Given the description of an element on the screen output the (x, y) to click on. 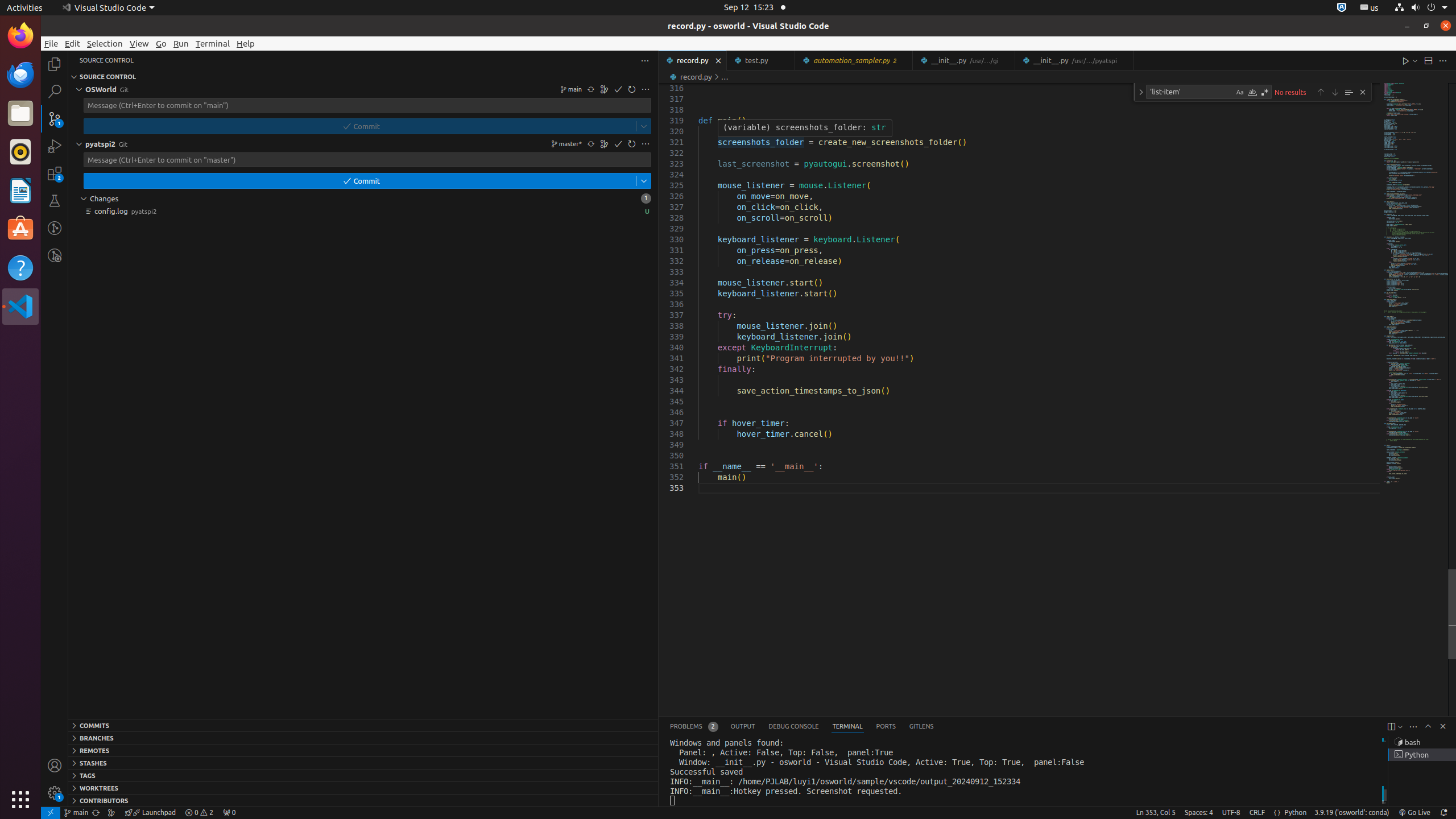
Debug Console (Ctrl+Shift+Y) Element type: page-tab (793, 726)
Python Element type: push-button (1295, 812)
Explorer (Ctrl+Shift+E) Element type: page-tab (54, 63)
File Element type: push-button (50, 43)
Output (Ctrl+K Ctrl+H) Element type: page-tab (742, 726)
